Given the description of an element on the screen output the (x, y) to click on. 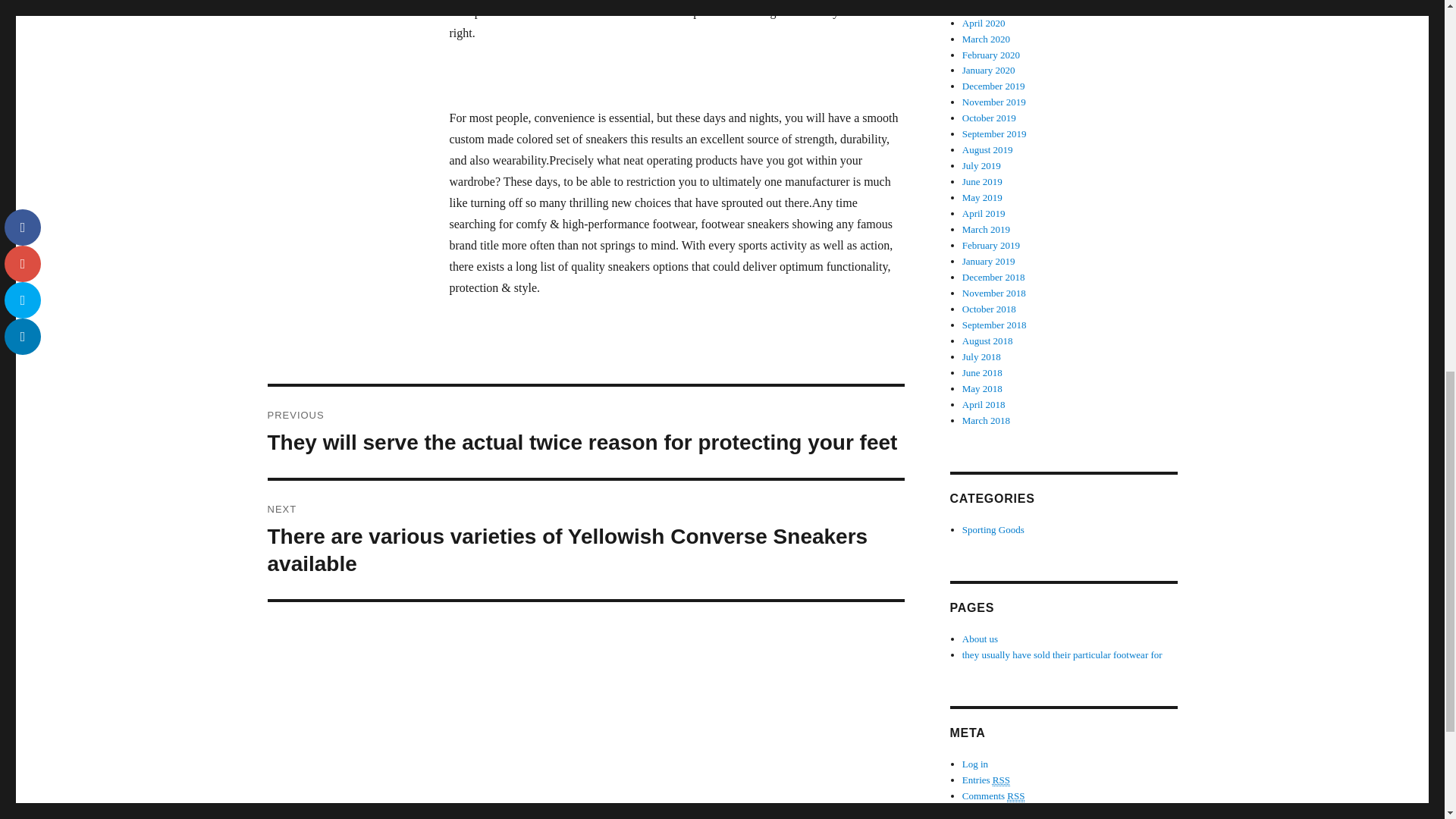
May 2020 (982, 7)
Really Simple Syndication (1016, 796)
Really Simple Syndication (1001, 779)
January 2020 (988, 70)
October 2019 (989, 117)
March 2020 (986, 39)
December 2019 (993, 85)
April 2020 (984, 22)
February 2020 (991, 53)
November 2019 (994, 101)
